Given the description of an element on the screen output the (x, y) to click on. 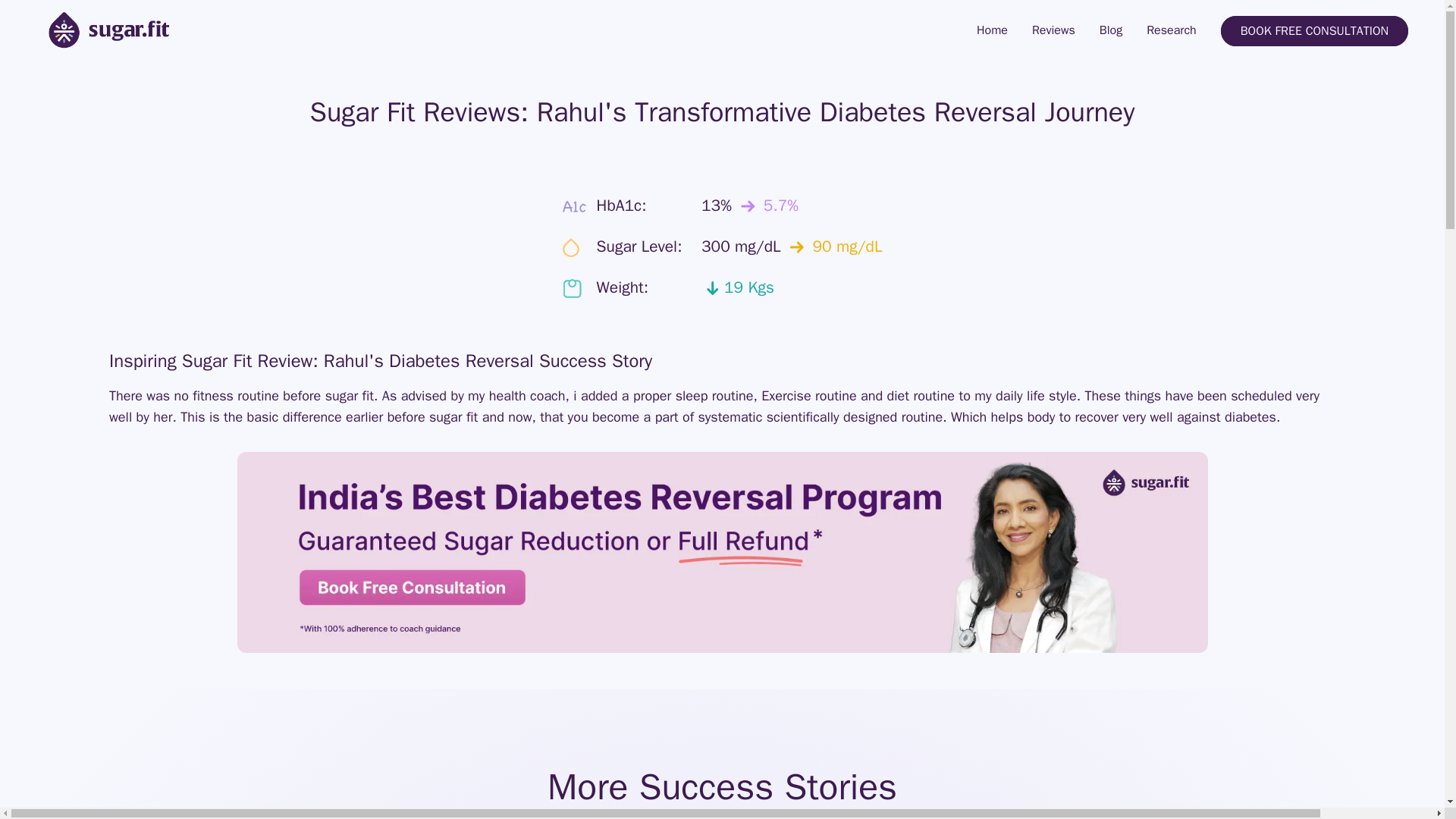
BOOK FREE CONSULTATION (1314, 30)
Home (991, 29)
Reviews (1053, 29)
Research (1171, 29)
Blog (1110, 29)
